Given the description of an element on the screen output the (x, y) to click on. 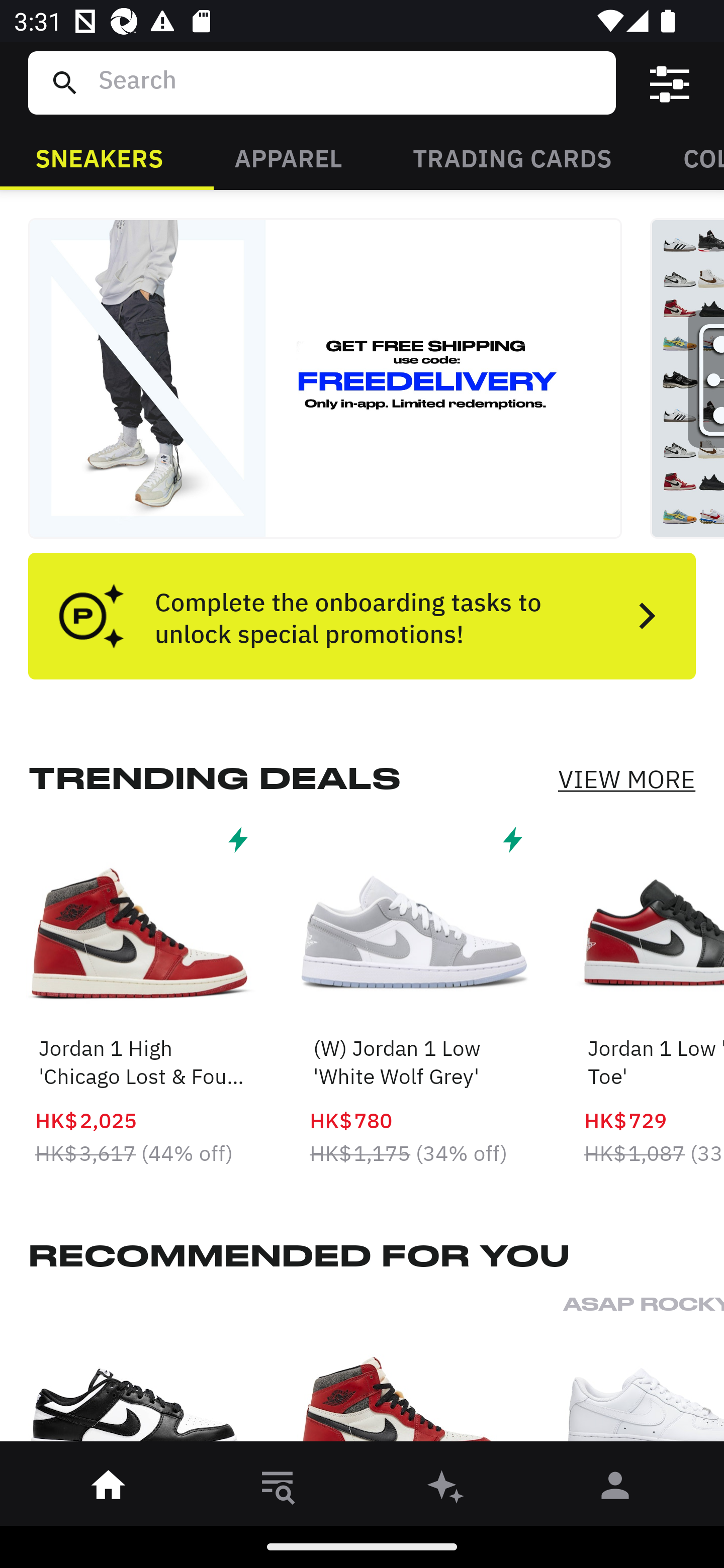
Search (349, 82)
 (669, 82)
SNEAKERS (99, 156)
APPAREL (287, 156)
TRADING CARDS (512, 156)
VIEW MORE (626, 779)
ASAP ROCKY (643, 1373)
󰋜 (108, 1488)
󱎸 (277, 1488)
󰫢 (446, 1488)
󰀄 (615, 1488)
